Given the description of an element on the screen output the (x, y) to click on. 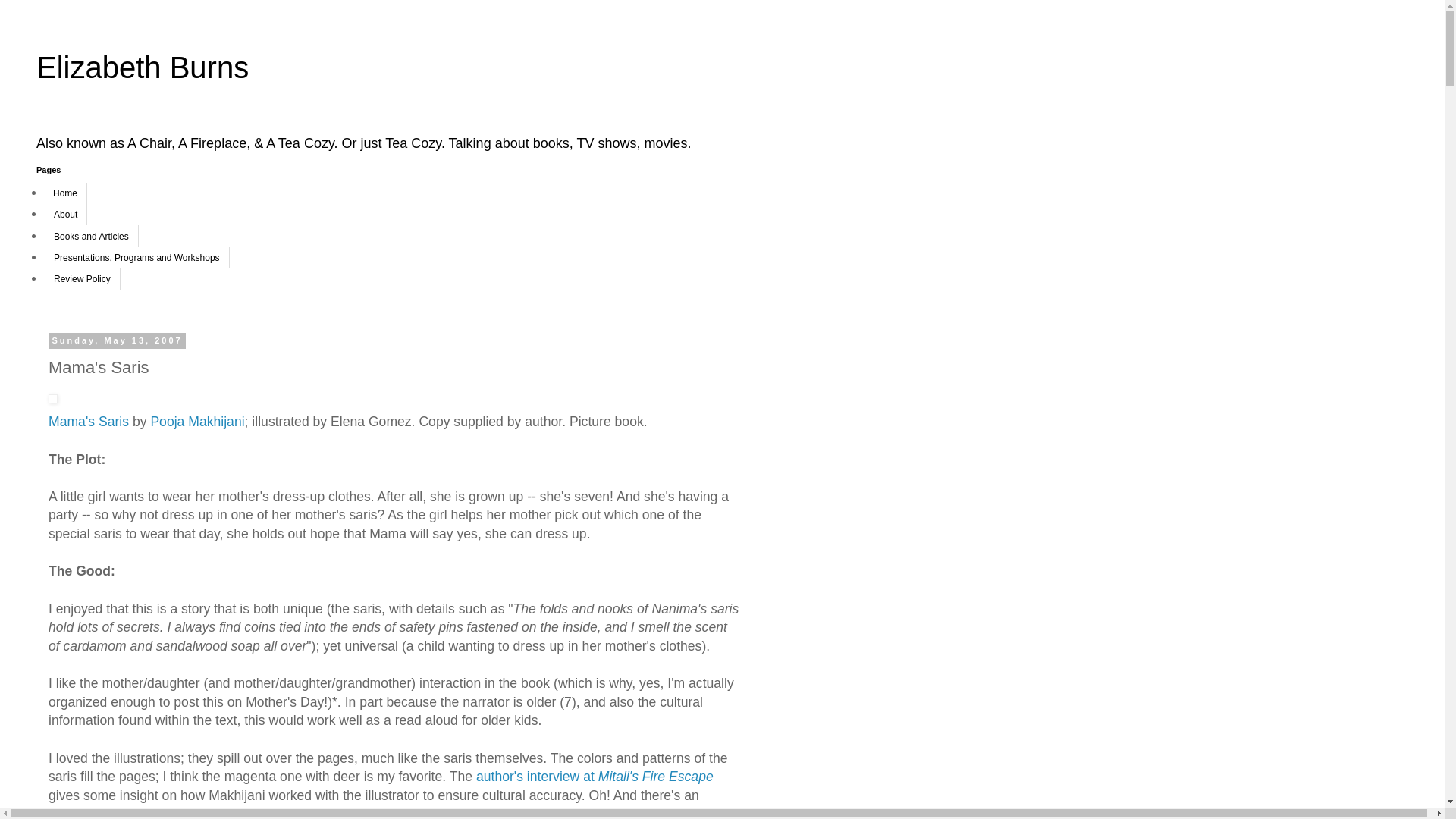
author's interview at Mitali's Fire Escape (594, 776)
Presentations, Programs and Workshops (136, 257)
About (65, 214)
Books and Articles (90, 235)
Pooja Makhijani (196, 421)
Review Policy (81, 278)
Home (65, 192)
Elizabeth Burns (142, 67)
Mama's Saris (88, 421)
